Given the description of an element on the screen output the (x, y) to click on. 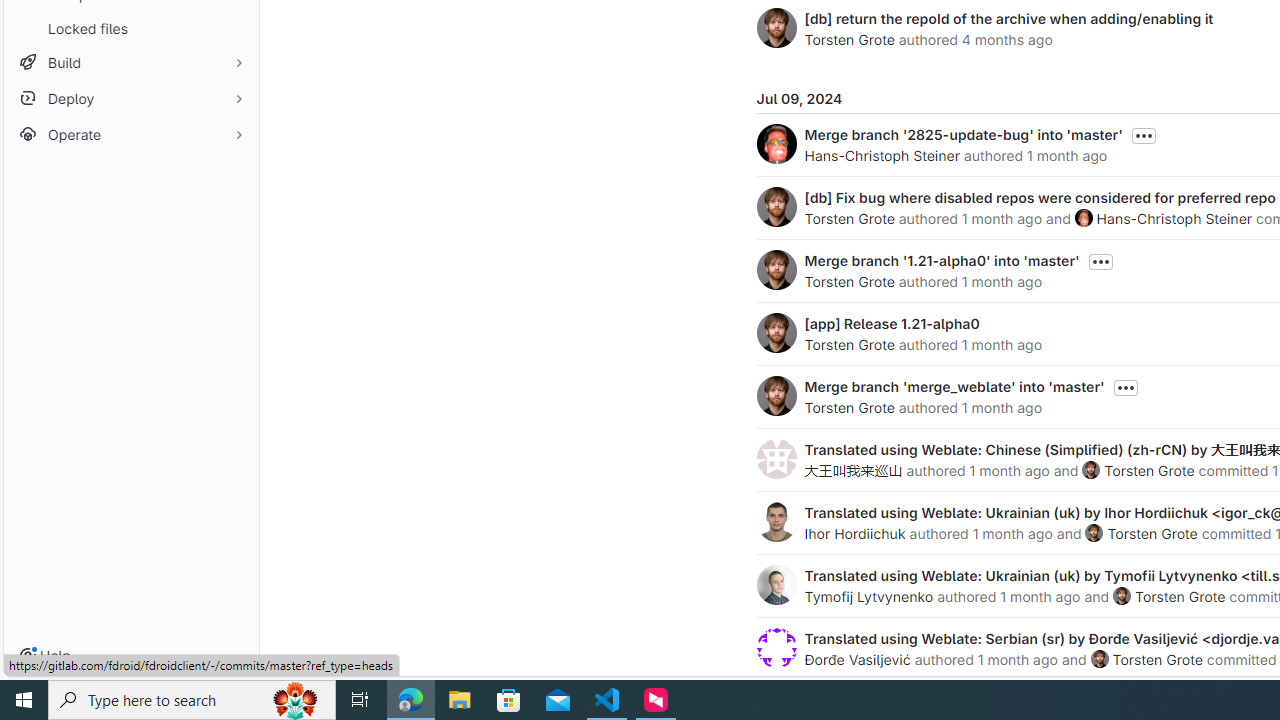
Merge branch '1.21-alpha0' into 'master' (941, 260)
Operate (130, 134)
Torsten Grote (1157, 659)
Torsten Grote's avatar (1099, 659)
Pin Locked files (234, 28)
Deploy (130, 98)
Ihor Hordiichuk's avatar (776, 521)
Locked files (130, 28)
Class: s16 gl-icon gl-button-icon  (1125, 388)
Build (130, 62)
Torsten Grote's avatar (1099, 659)
Merge branch '2825-update-bug' into 'master' (962, 134)
